Given the description of an element on the screen output the (x, y) to click on. 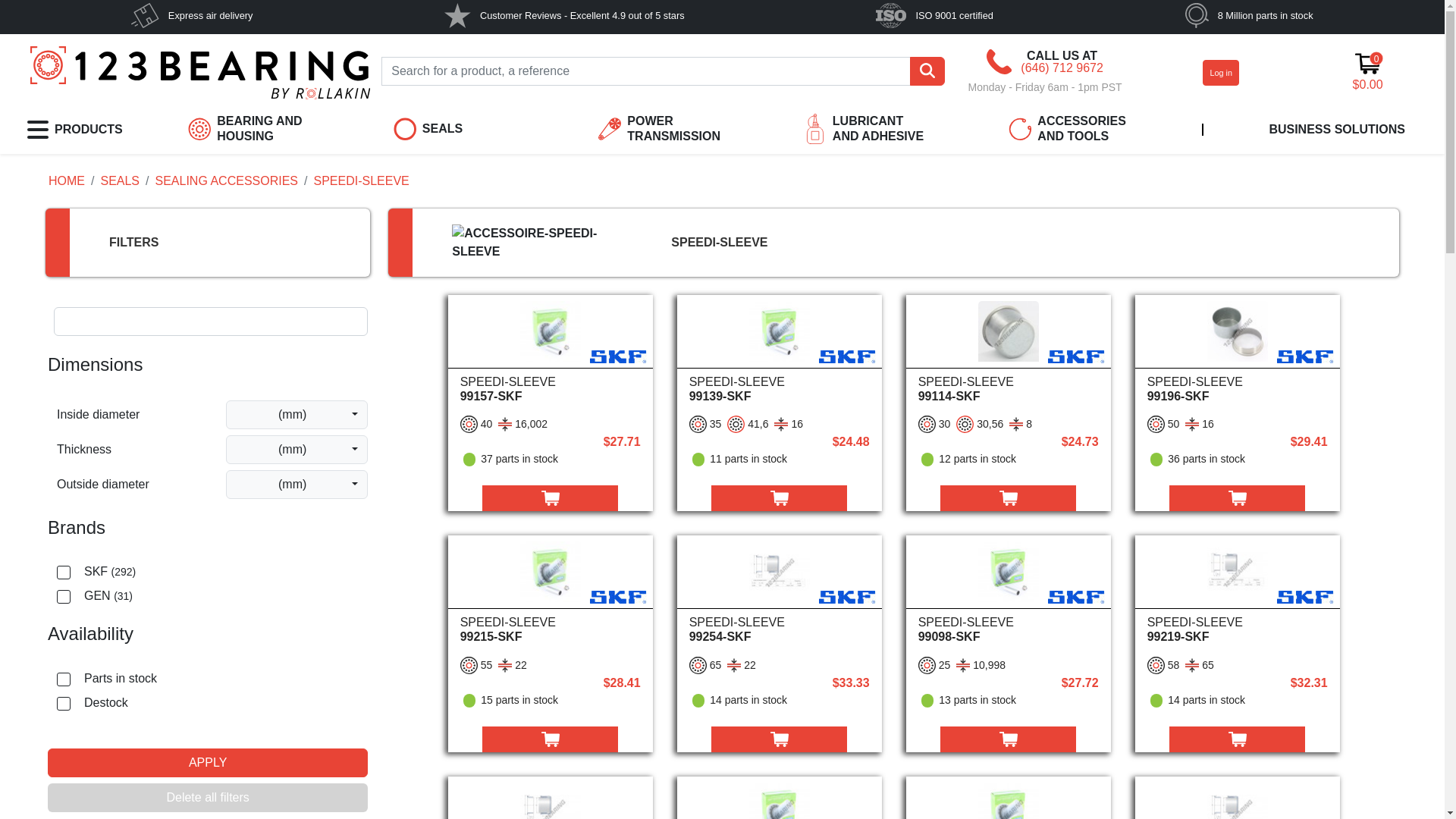
Speedi-Sleeve - 99098-SKF Element type: hover (1008, 571)
(mm) Element type: text (296, 484)
Add to basket Element type: hover (779, 498)
Speedi-Sleeve - 99254-SKF Element type: hover (779, 571)
Log in Element type: text (1220, 72)
APPLY Element type: text (207, 762)
SPEEDI-SLEEVE
99098-SKF
25
10,998
$27.72
  13 parts in stock Element type: text (1008, 627)
Speedi-Sleeve - 99139-SKF Element type: hover (779, 331)
ACCESSORIES AND TOOLS Element type: text (1072, 129)
FILTERS Element type: text (133, 242)
POWER TRANSMISSION Element type: text (661, 129)
Express air delivery
(current) Element type: text (191, 15)
SPEEDI-SLEEVE
99215-SKF
55
22
$28.41
  15 parts in stock Element type: text (550, 627)
(646) 712 9672 Element type: text (1061, 67)
Speedi-Sleeve - 99114-SKF Element type: hover (1008, 331)
SEALS Element type: text (457, 129)
BEARING AND HOUSING Element type: text (251, 129)
Add to basket Element type: hover (1008, 498)
Speedi-Sleeve - 99219-SKF Element type: hover (1237, 571)
Customer Reviews - Excellent 4.9 out of 5 stars
(current) Element type: text (564, 15)
SPEEDI-SLEEVE
99254-SKF
65
22
$33.33
  14 parts in stock Element type: text (779, 627)
PRODUCTS Element type: text (74, 130)
Speedi-Sleeve - 99196-SKF Element type: hover (1237, 331)
ISO 9001 certified
(current) Element type: text (934, 15)
SPEEDI-SLEEVE Element type: text (360, 180)
SEALING ACCESSORIES Element type: text (226, 180)
(mm) Element type: text (296, 414)
SPEEDI-SLEEVE
99196-SKF
50
16
$29.41
  36 parts in stock Element type: text (1237, 386)
Speedi-Sleeve - 99157-SKF Element type: hover (550, 331)
LUBRICANT AND ADHESIVE Element type: text (867, 129)
SEALS Element type: text (119, 180)
Add to basket Element type: hover (1008, 738)
SPEEDI-SLEEVE Element type: text (1015, 242)
Speedi-Sleeve - 99215-SKF Element type: hover (550, 571)
(mm) Element type: text (296, 449)
SPEEDI-SLEEVE
99157-SKF
40
16,002
$27.71
  37 parts in stock Element type: text (550, 386)
Add to basket Element type: hover (779, 738)
HOME Element type: text (66, 180)
Delete all filters Element type: text (207, 797)
SPEEDI-SLEEVE
99219-SKF
58
65
$32.31
  14 parts in stock Element type: text (1237, 627)
BUSINESS SOLUTIONS Element type: text (1336, 130)
Add to basket Element type: hover (1237, 498)
Add to basket Element type: hover (550, 738)
Add to basket Element type: hover (550, 498)
8 Million parts in stock
(current) Element type: text (1249, 15)
Add to basket Element type: hover (1237, 738)
